Given the description of an element on the screen output the (x, y) to click on. 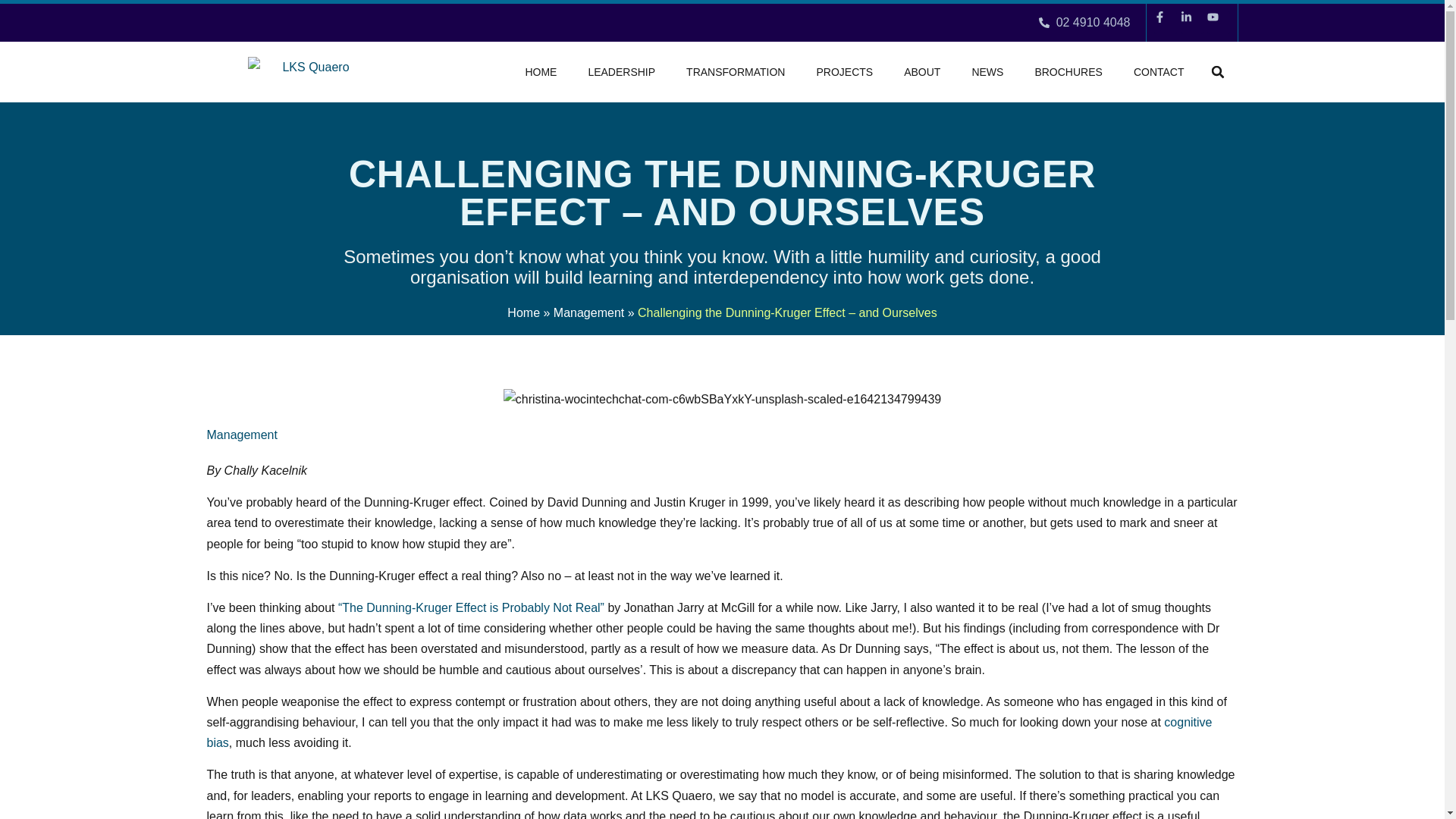
LEADERSHIP (620, 71)
HOME (540, 71)
02 4910 4048 (1084, 22)
ABOUT (922, 71)
NEWS (987, 71)
PROJECTS (844, 71)
CONTACT (1158, 71)
TRANSFORMATION (734, 71)
BROCHURES (1067, 71)
